Given the description of an element on the screen output the (x, y) to click on. 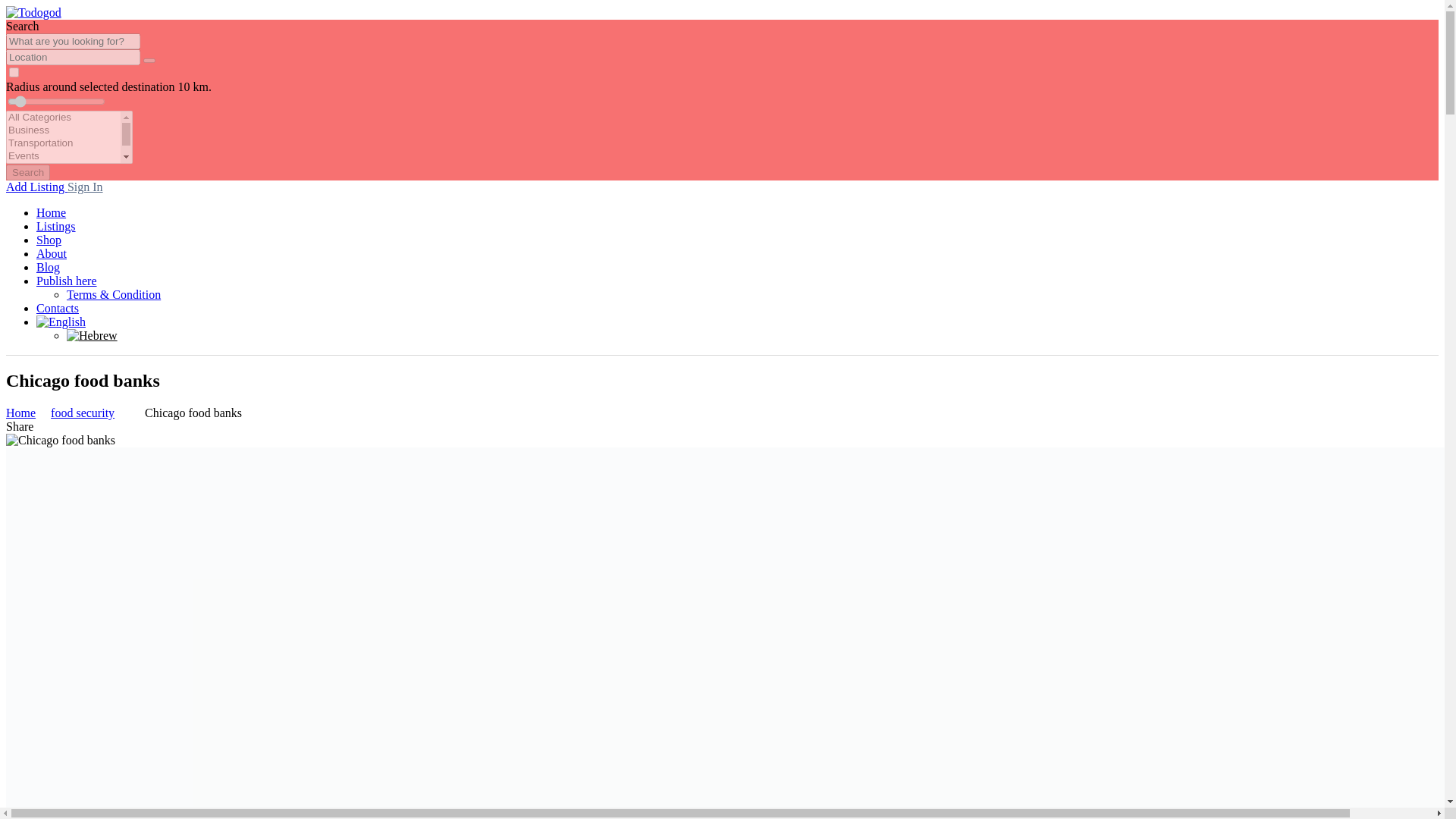
Shop (48, 239)
10 (55, 101)
Listings (55, 226)
food security (82, 412)
Home (50, 212)
About (51, 253)
Blog (47, 267)
1 (13, 71)
Home (19, 412)
Chicago food banks (193, 412)
Sign In (84, 186)
Contacts (57, 308)
Add Listing (35, 186)
Home (19, 412)
Publish here (66, 280)
